Given the description of an element on the screen output the (x, y) to click on. 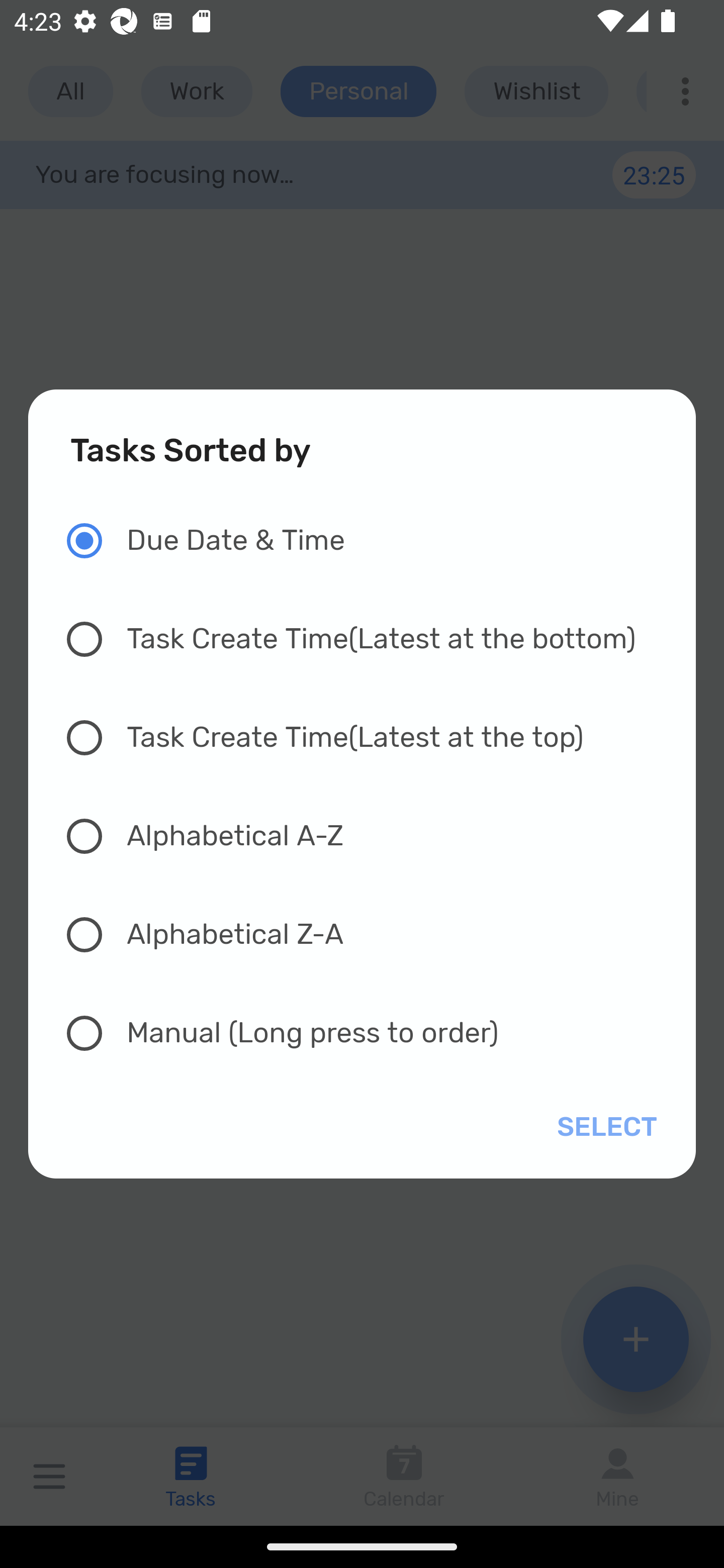
Due Date & Time (372, 540)
Task Create Time(Latest at the bottom) (372, 639)
Task Create Time(Latest at the top) (372, 737)
Alphabetical A-Z (372, 835)
Alphabetical Z-A (372, 934)
Manual (Long press to order) (372, 1033)
SELECT (603, 1127)
